Given the description of an element on the screen output the (x, y) to click on. 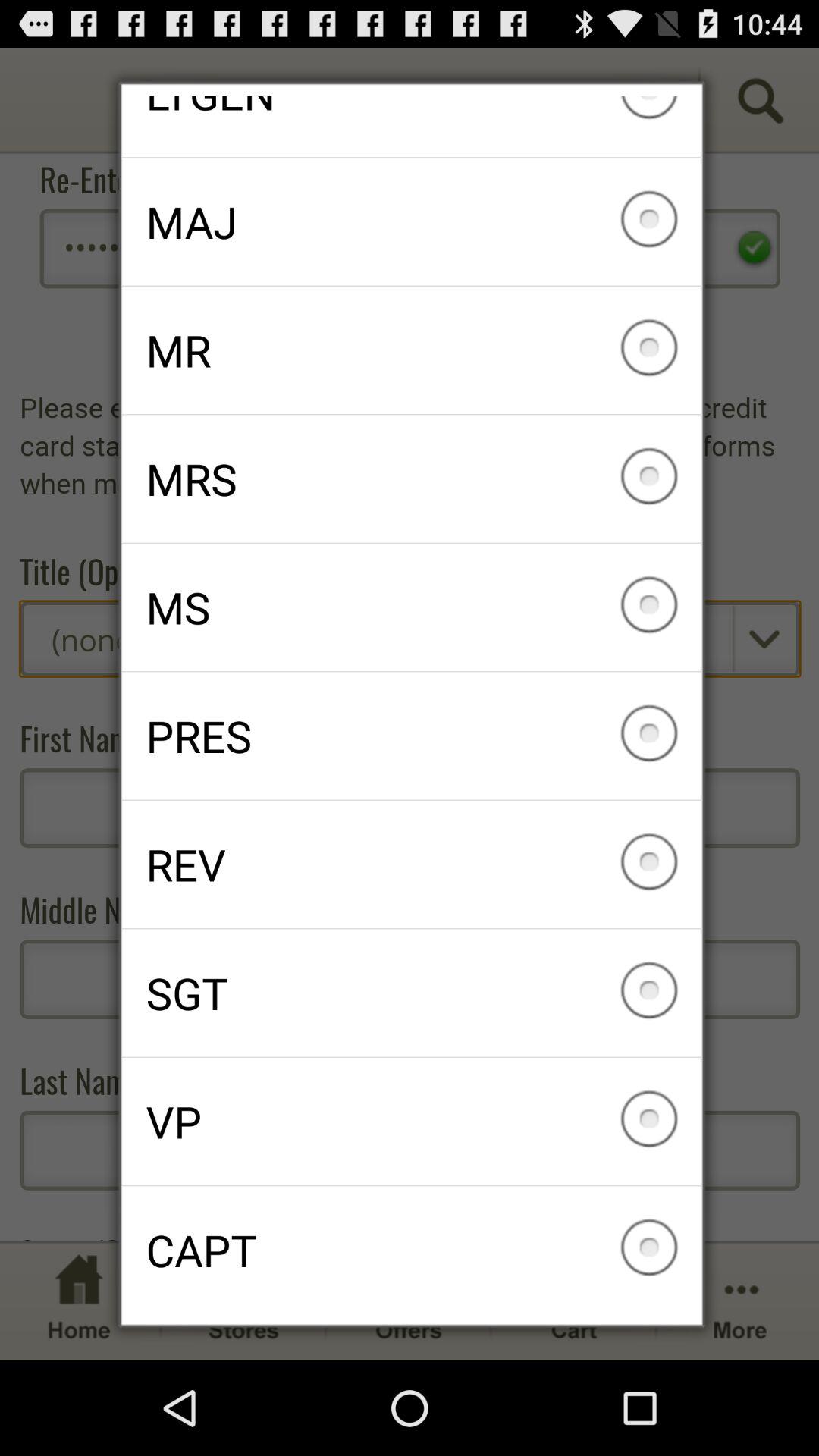
flip until the ms icon (411, 607)
